Given the description of an element on the screen output the (x, y) to click on. 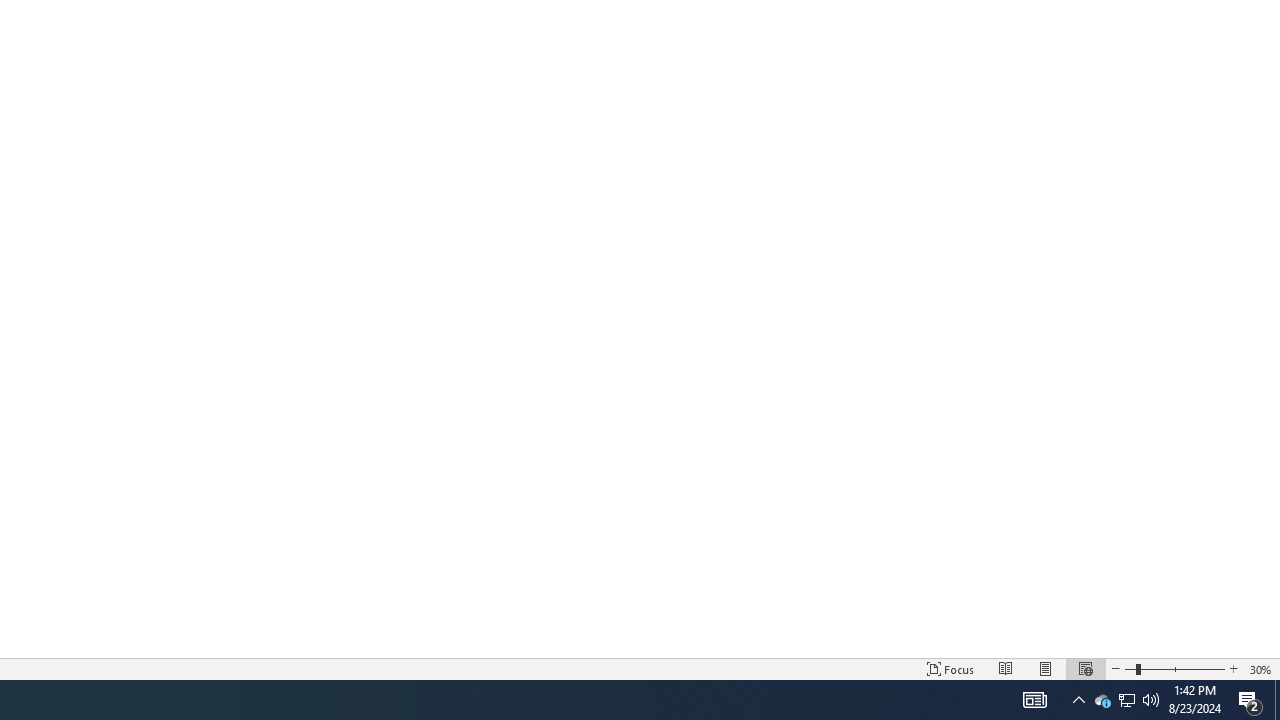
Zoom 30% (1261, 668)
